Given the description of an element on the screen output the (x, y) to click on. 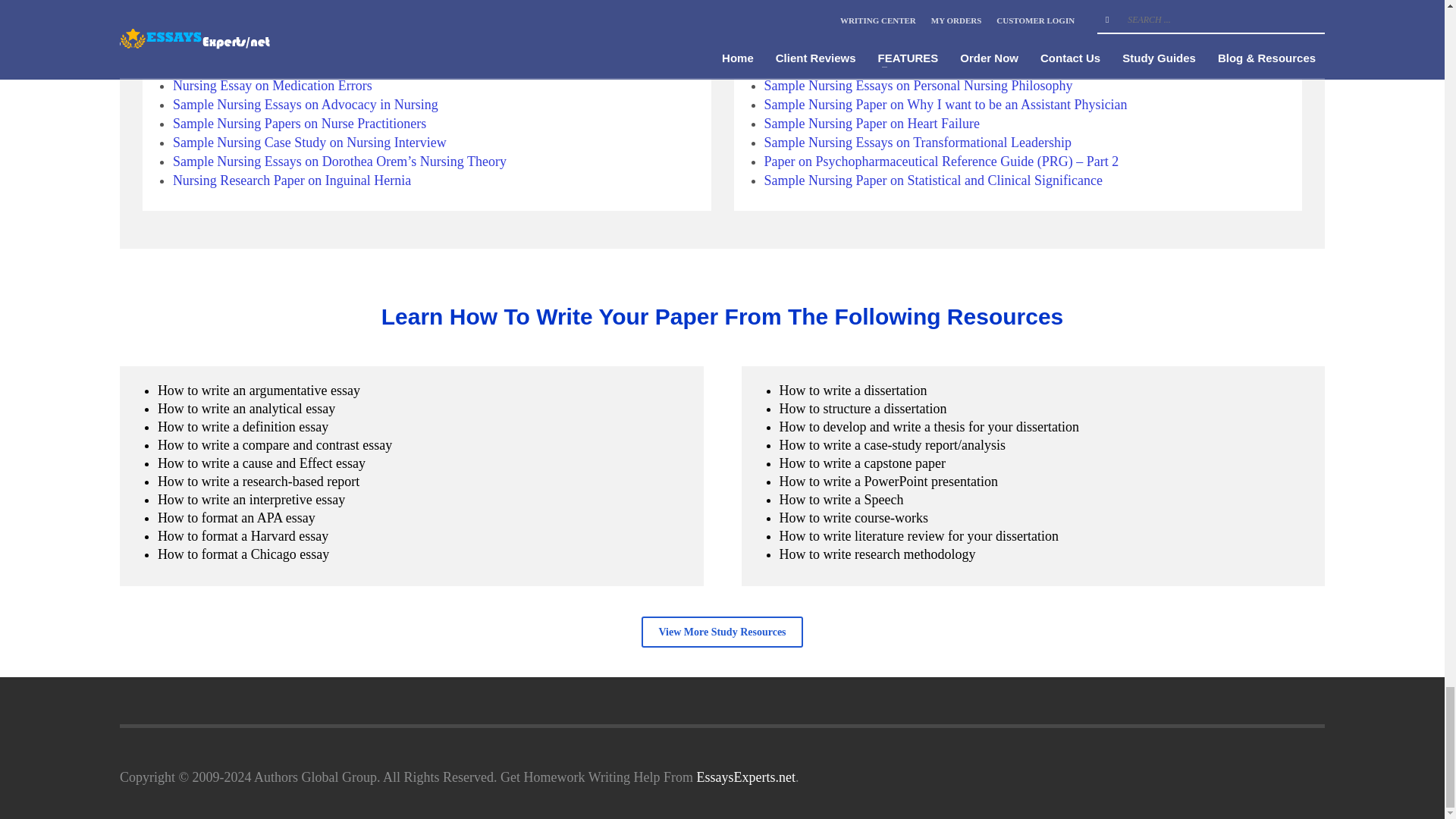
Nursing Essay on Medication Errors (272, 85)
Sample Nursing Papers on Nurse Practitioners (299, 123)
Sample Nursing Essays on Culturally Competent Care (321, 9)
Sample Nursing Case Study on Nursing Interview (309, 142)
Sample Nursing Term Paper on Differential Diagnosis (320, 66)
Nursing Research Paper on Inguinal Hernia (291, 180)
Sample Nursing Essays on The Theory of Caring (307, 28)
Sample Nursing Essays on Advocacy in Nursing (305, 104)
